Given the description of an element on the screen output the (x, y) to click on. 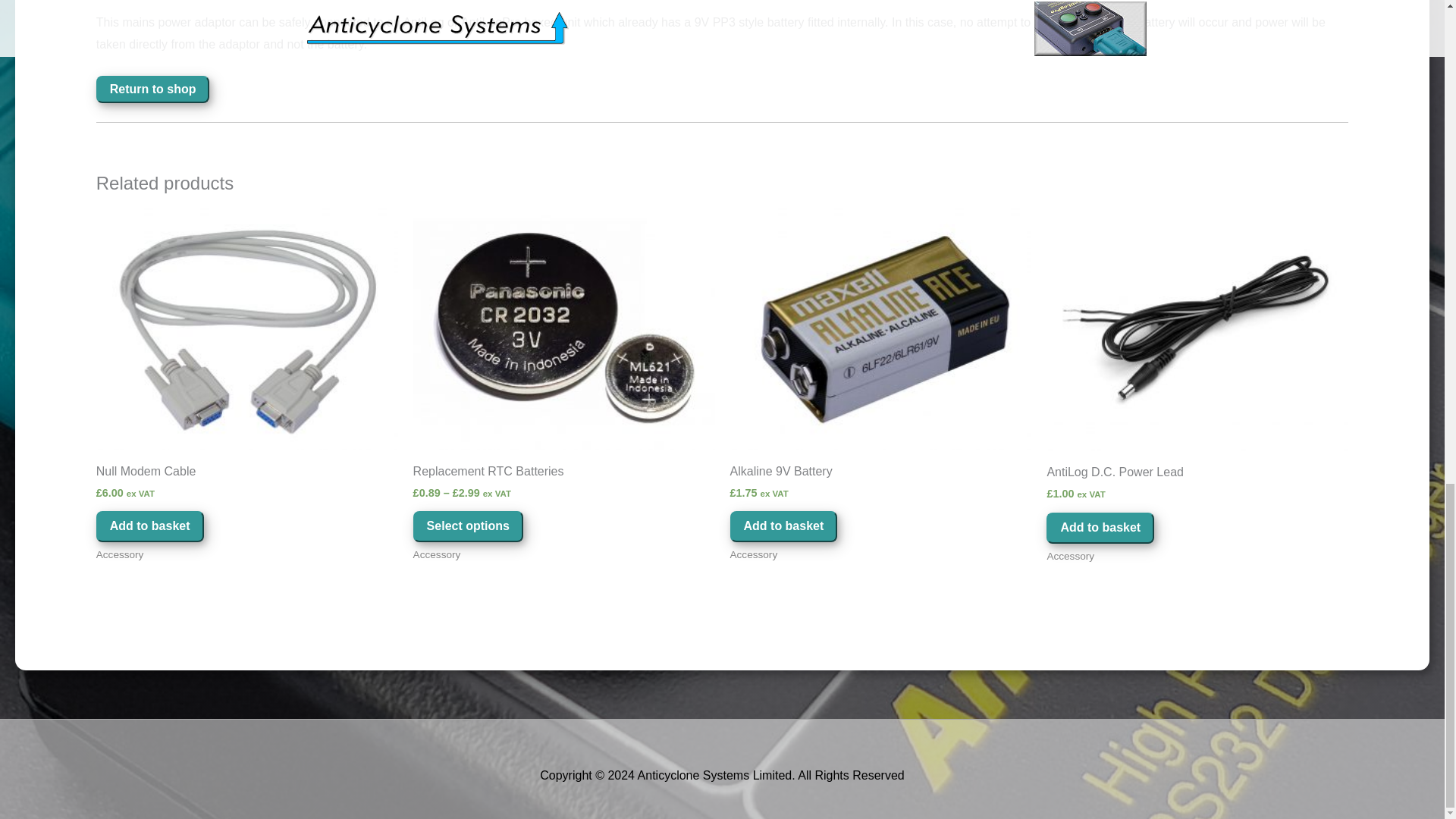
Add to basket (1100, 527)
Add to basket (783, 526)
Null Modem Cable (246, 475)
Add to basket (149, 526)
Select options (467, 526)
Return to shop (152, 89)
Replacement RTC Batteries (563, 475)
Alkaline 9V Battery (879, 475)
AntiLog D.C. Power Lead (1197, 475)
